Given the description of an element on the screen output the (x, y) to click on. 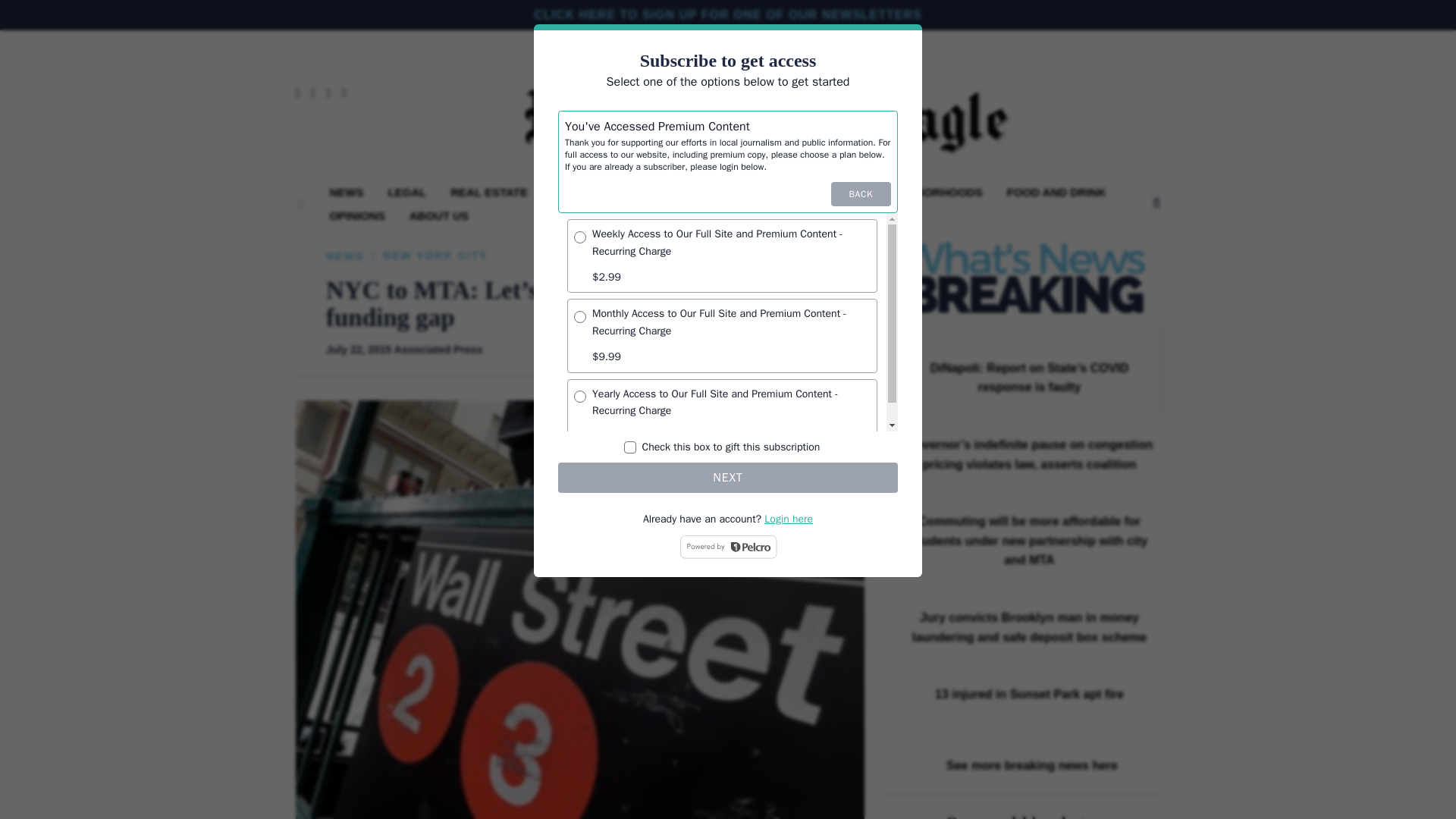
on (579, 236)
on (579, 316)
on (630, 447)
on (579, 396)
